Given the description of an element on the screen output the (x, y) to click on. 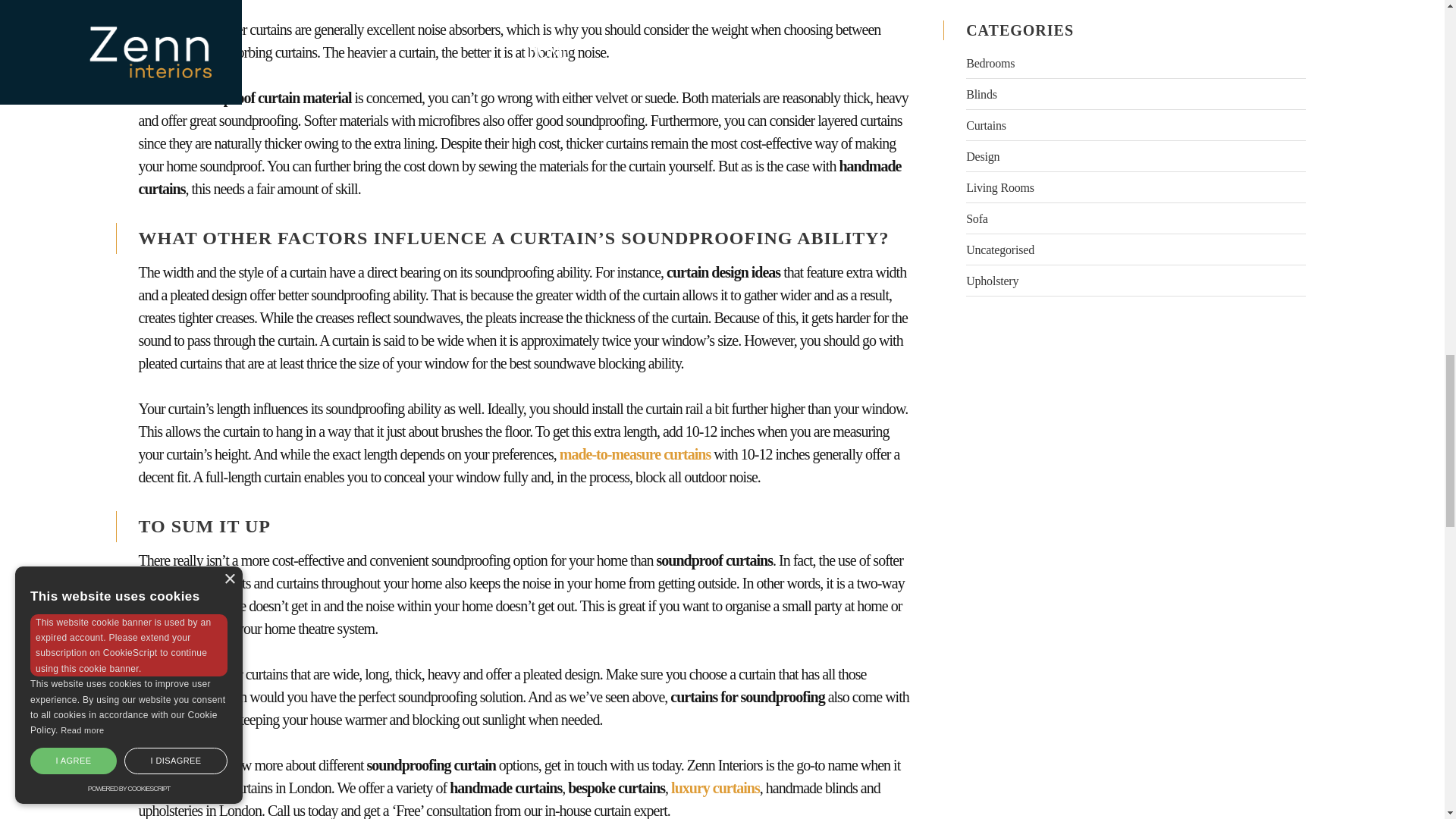
made-to-measure curtains (636, 453)
Bedrooms (990, 62)
luxury curtains (715, 787)
